Given the description of an element on the screen output the (x, y) to click on. 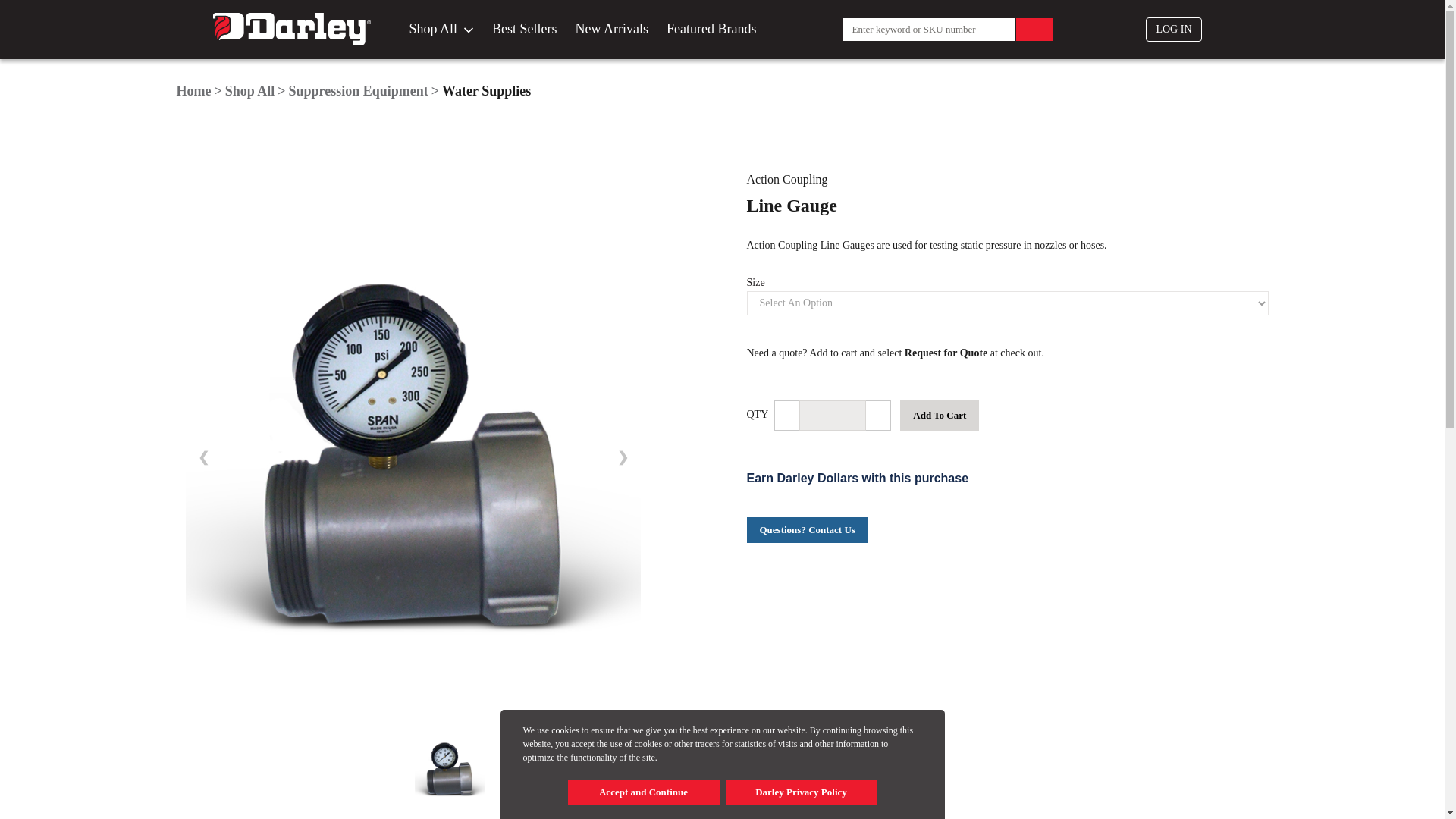
Featured Brands (711, 29)
Best Sellers (524, 29)
New Arrivals (612, 29)
LOG IN (1173, 29)
Shop All (441, 29)
Featured Brands (711, 29)
Home (193, 90)
Search (1034, 29)
Add To Cart (938, 415)
New Arrivals (612, 29)
